Given the description of an element on the screen output the (x, y) to click on. 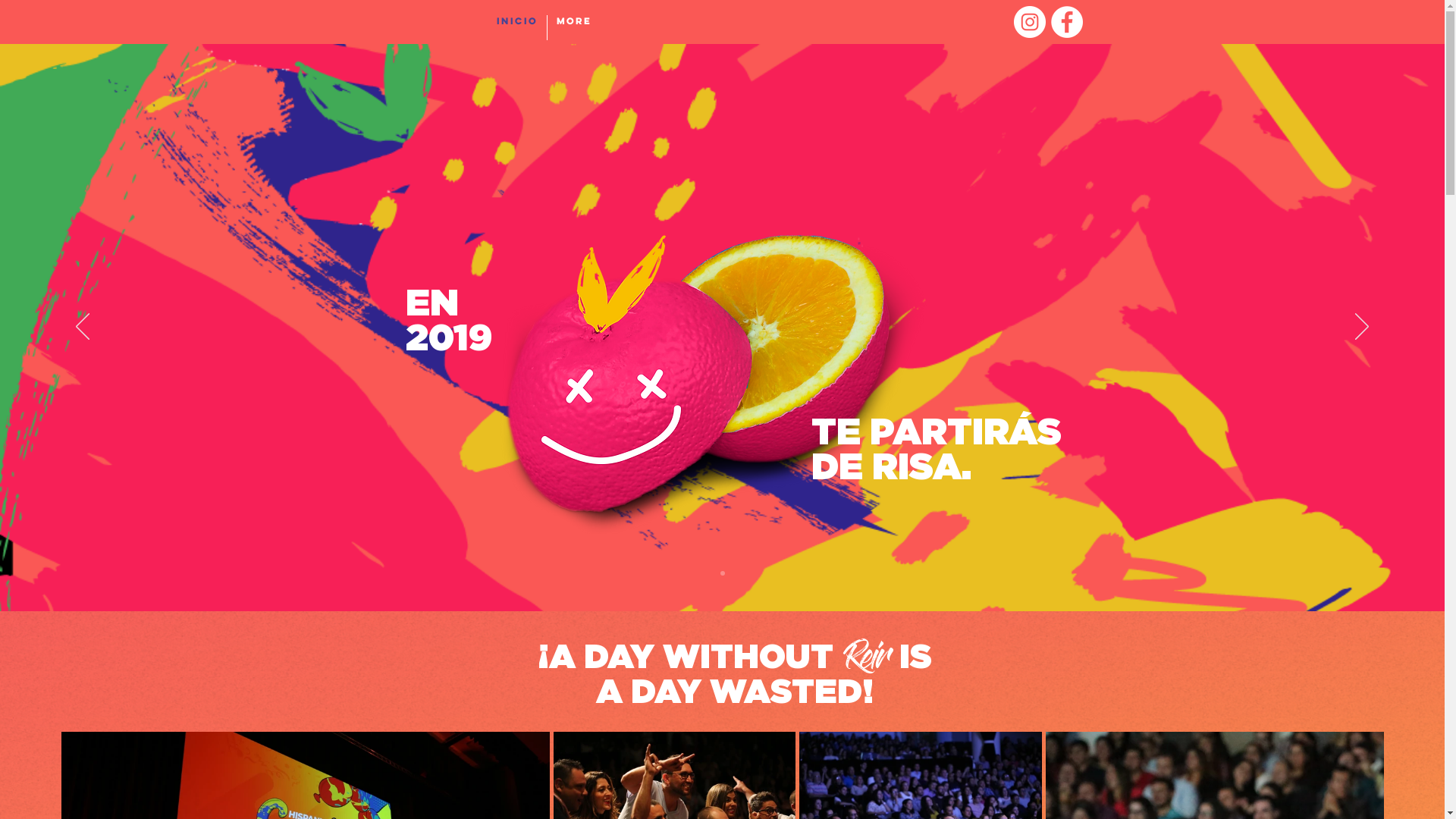
Inicio Element type: text (516, 27)
